Given the description of an element on the screen output the (x, y) to click on. 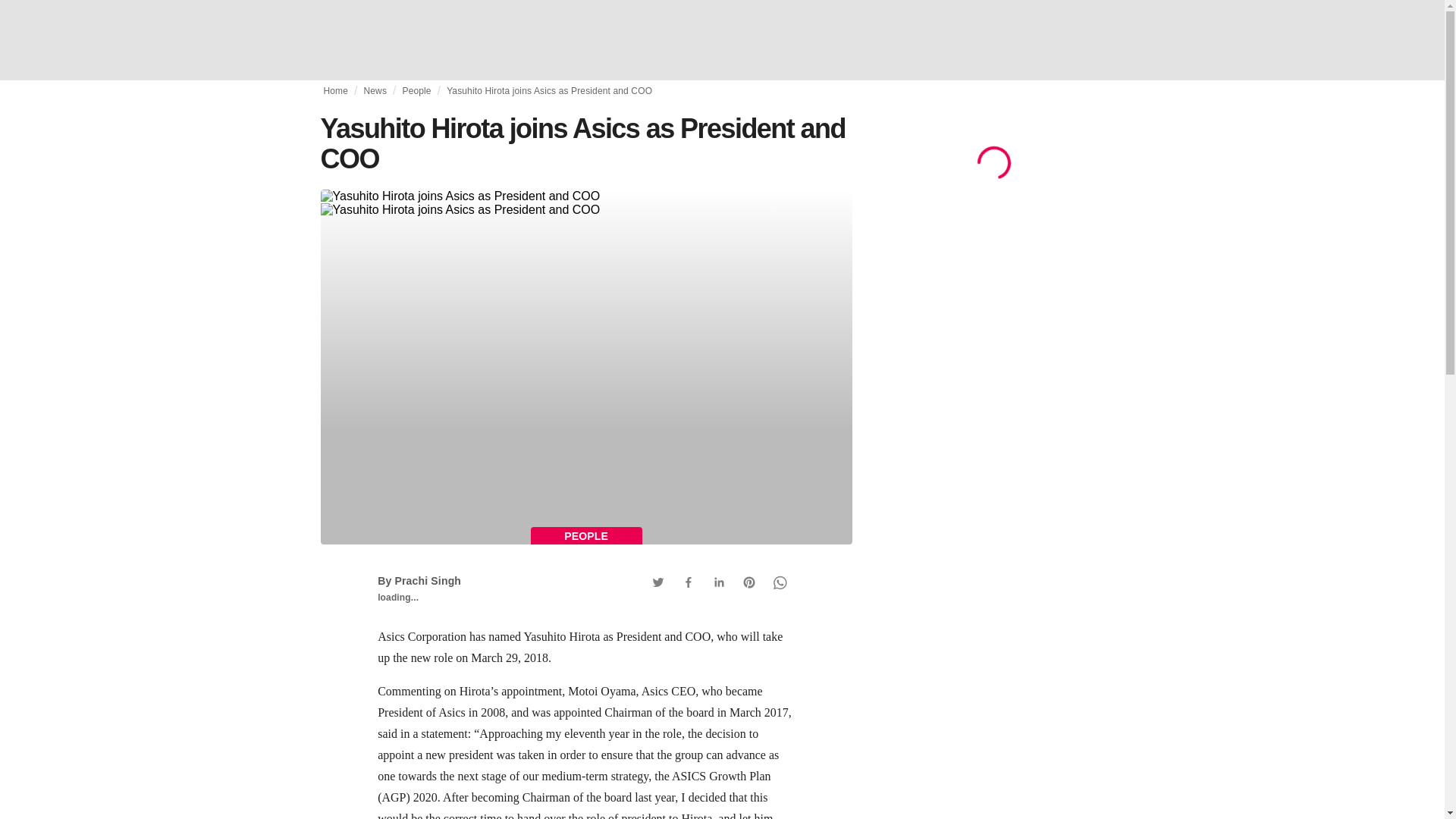
Home (335, 90)
Yasuhito Hirota joins Asics as President and COO (549, 90)
People (415, 90)
Yasuhito Hirota joins Asics as President and COO (585, 203)
News (375, 90)
By Prachi Singh (419, 580)
